Given the description of an element on the screen output the (x, y) to click on. 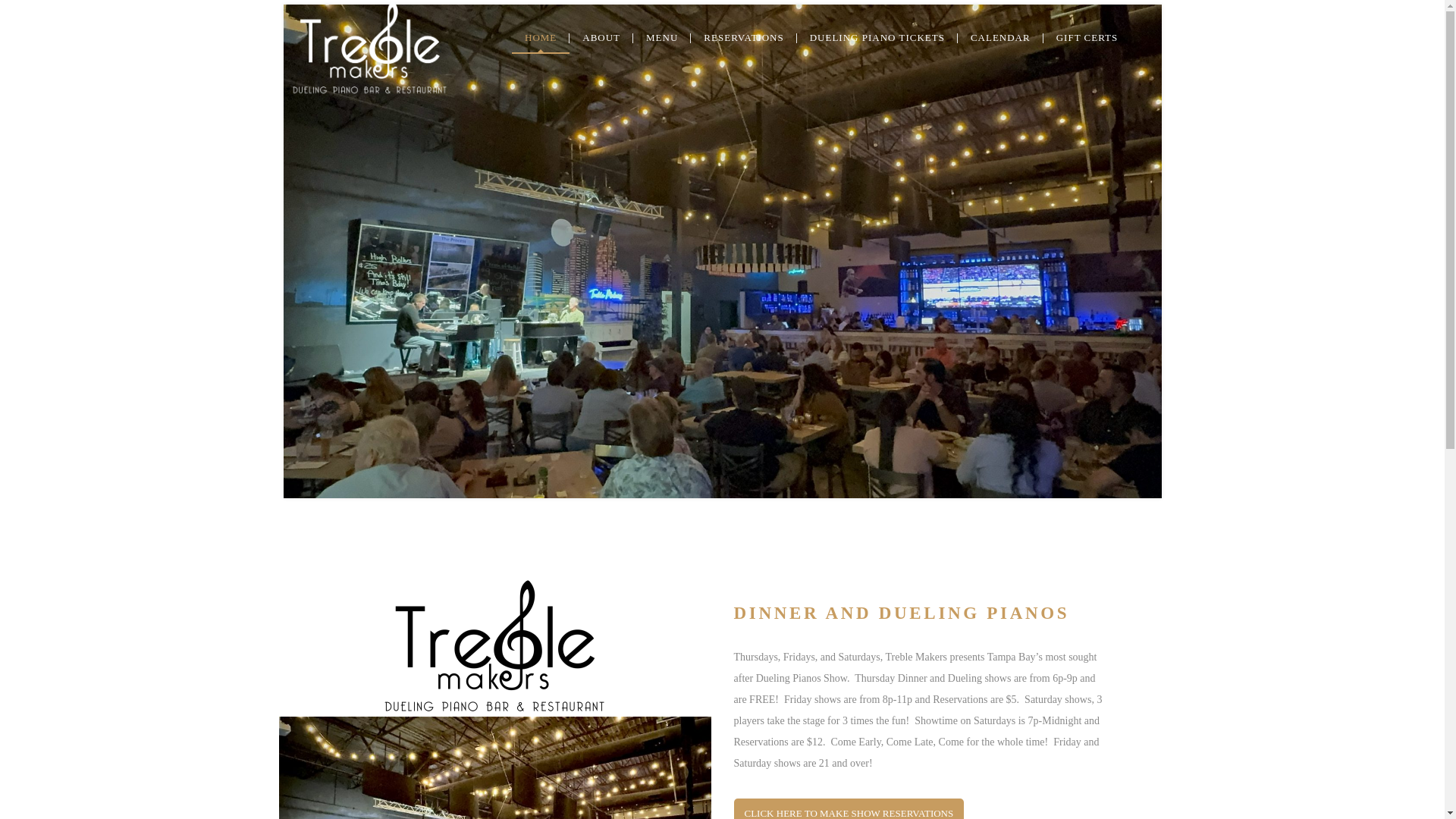
DUELING PIANO TICKETS (877, 38)
RESERVATIONS (743, 38)
CALENDAR (1000, 38)
TM Inside (495, 767)
CLICK HERE TO MAKE SHOW RESERVATIONS (848, 808)
GIFT CERTS (1087, 38)
TrebleMakerLogo Black Small 2 (494, 647)
